Given the description of an element on the screen output the (x, y) to click on. 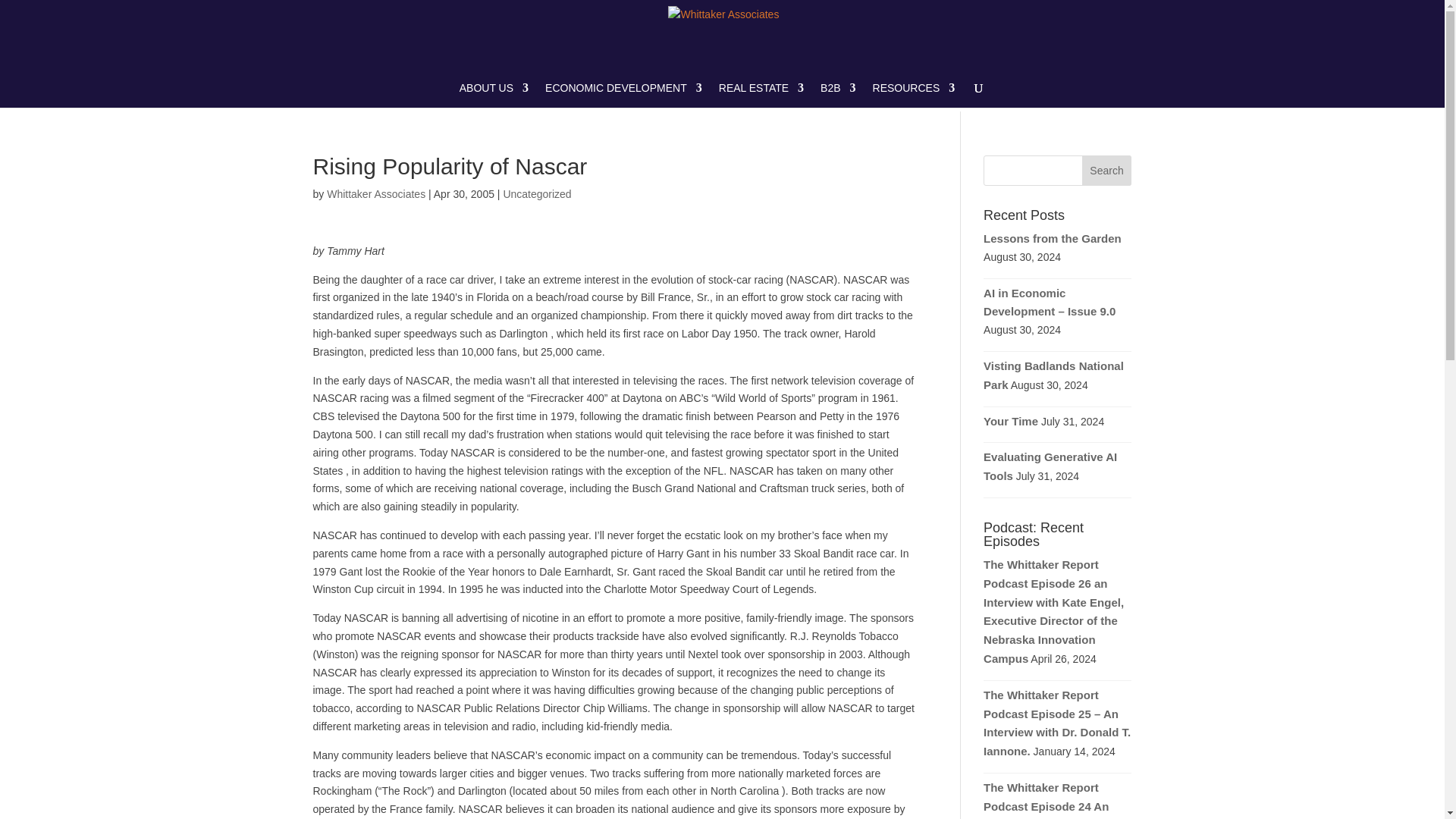
Posts by Whittaker Associates (375, 193)
ABOUT US (494, 94)
REAL ESTATE (761, 94)
B2B (838, 94)
RESOURCES (913, 94)
ECONOMIC DEVELOPMENT (622, 94)
Search (1106, 170)
